Given the description of an element on the screen output the (x, y) to click on. 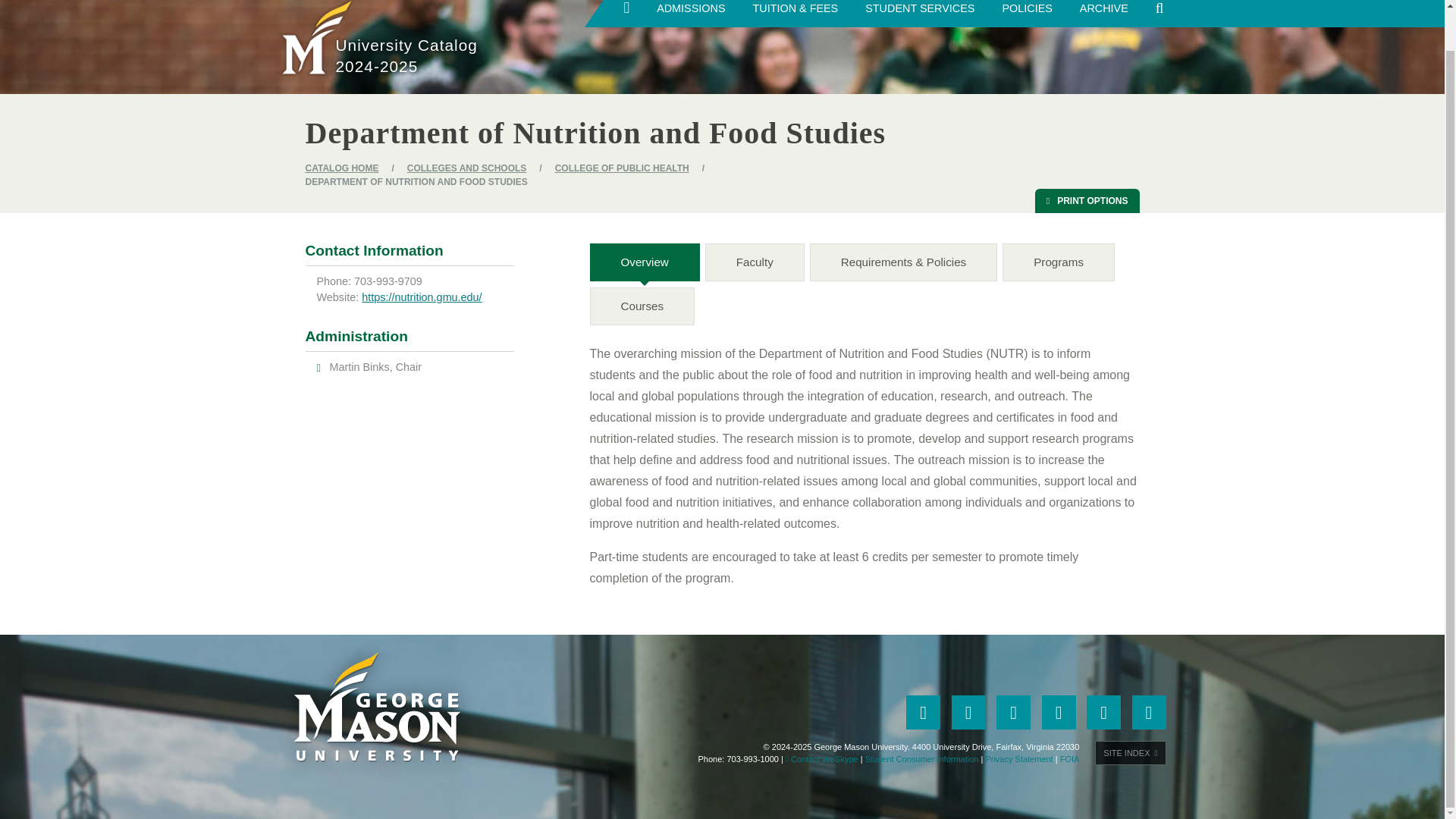
POLICIES (1026, 13)
COLLEGES AND SCHOOLS (467, 167)
HOME (626, 13)
ARCHIVE (1103, 13)
STUDENT SERVICES (919, 13)
ADMISSIONS (690, 13)
CATALOG HOME (341, 167)
PRINT OPTIONS (1087, 200)
SEARCH CATALOG (1159, 13)
COLLEGE OF PUBLIC HEALTH (621, 167)
